Given the description of an element on the screen output the (x, y) to click on. 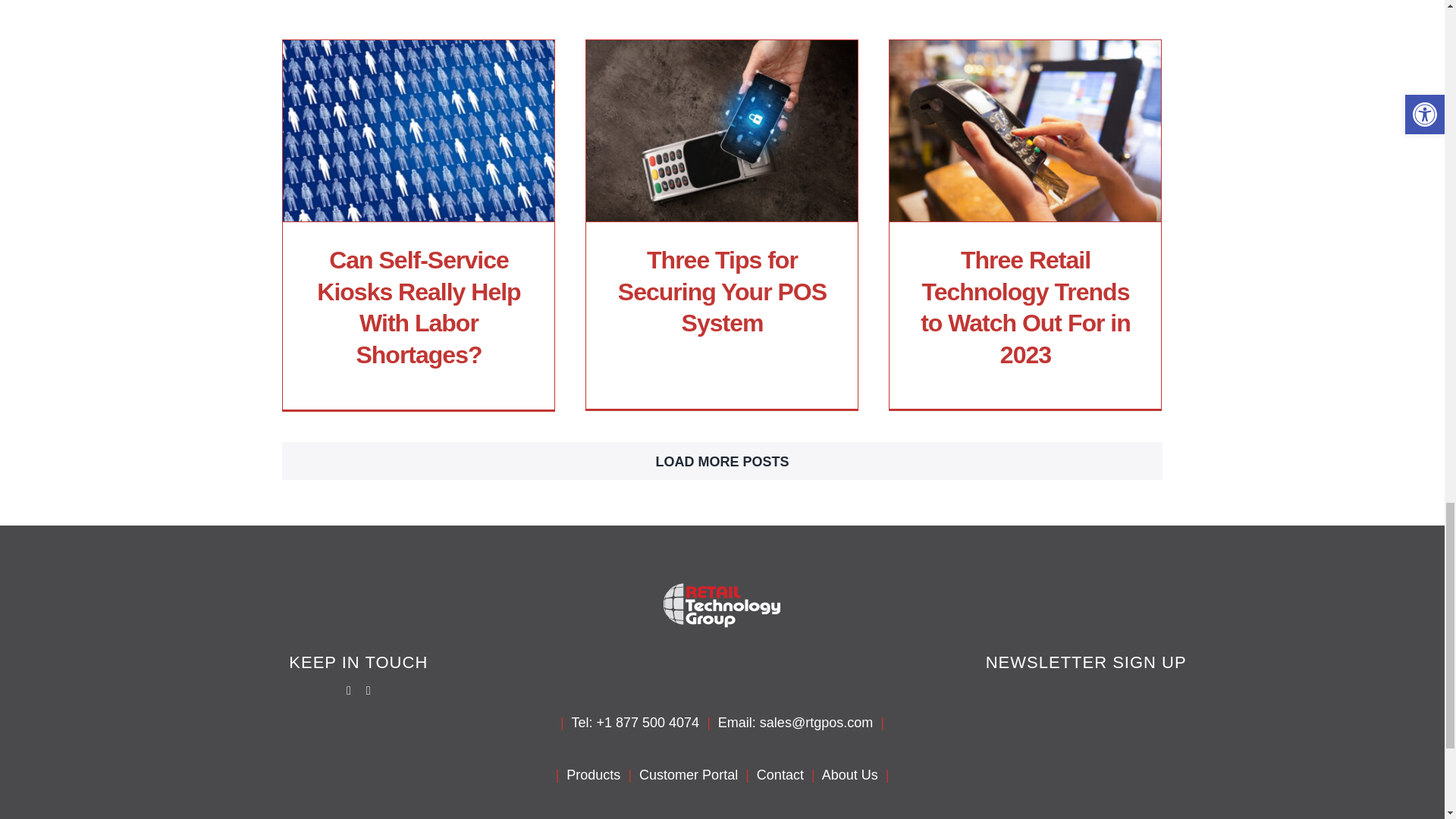
o-sell-prtnr-OracleFoodBevrg-NAS-wht-rgb (1326, 817)
Retail Technology Group (722, 604)
